Given the description of an element on the screen output the (x, y) to click on. 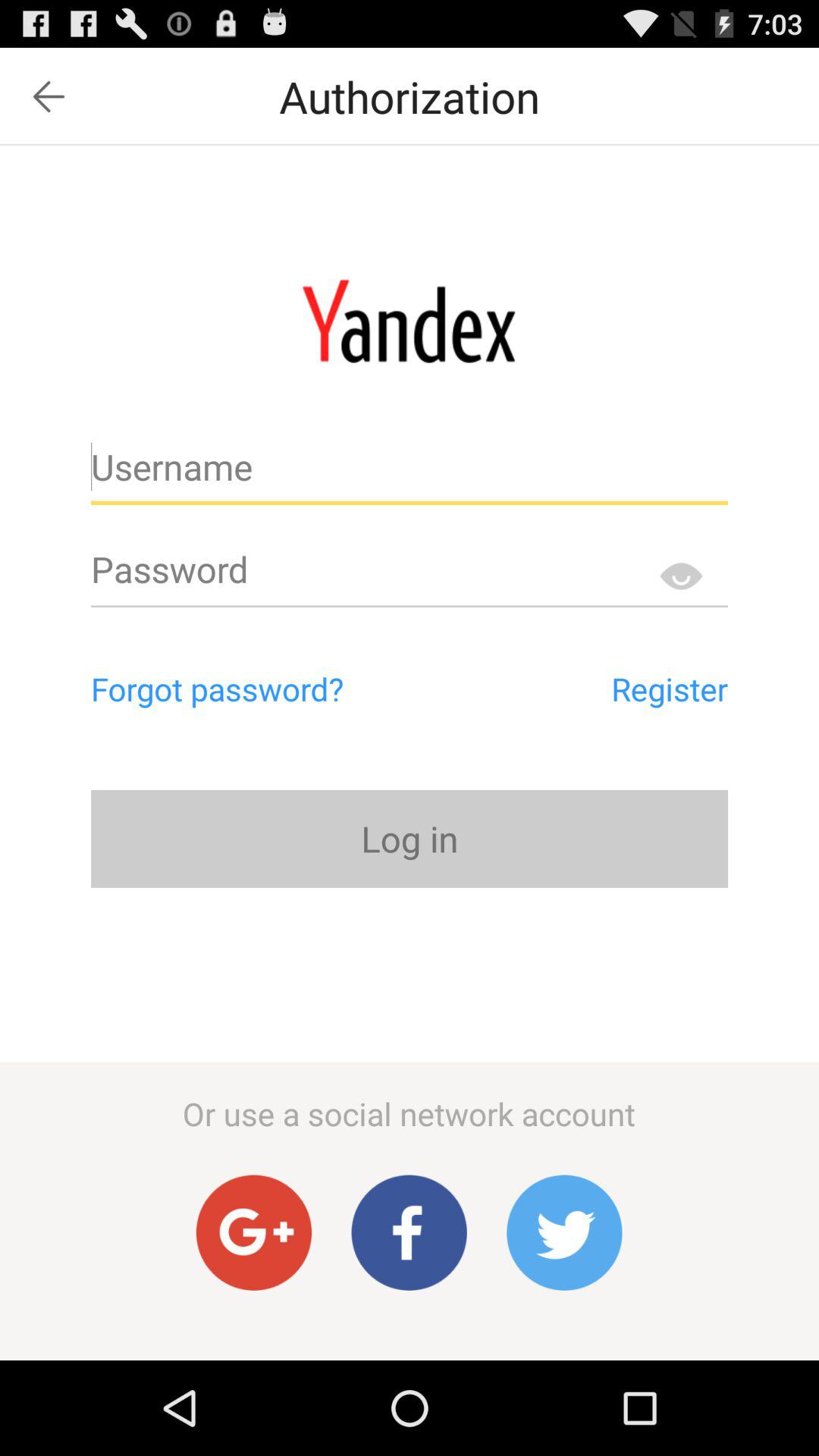
write password (409, 575)
